Given the description of an element on the screen output the (x, y) to click on. 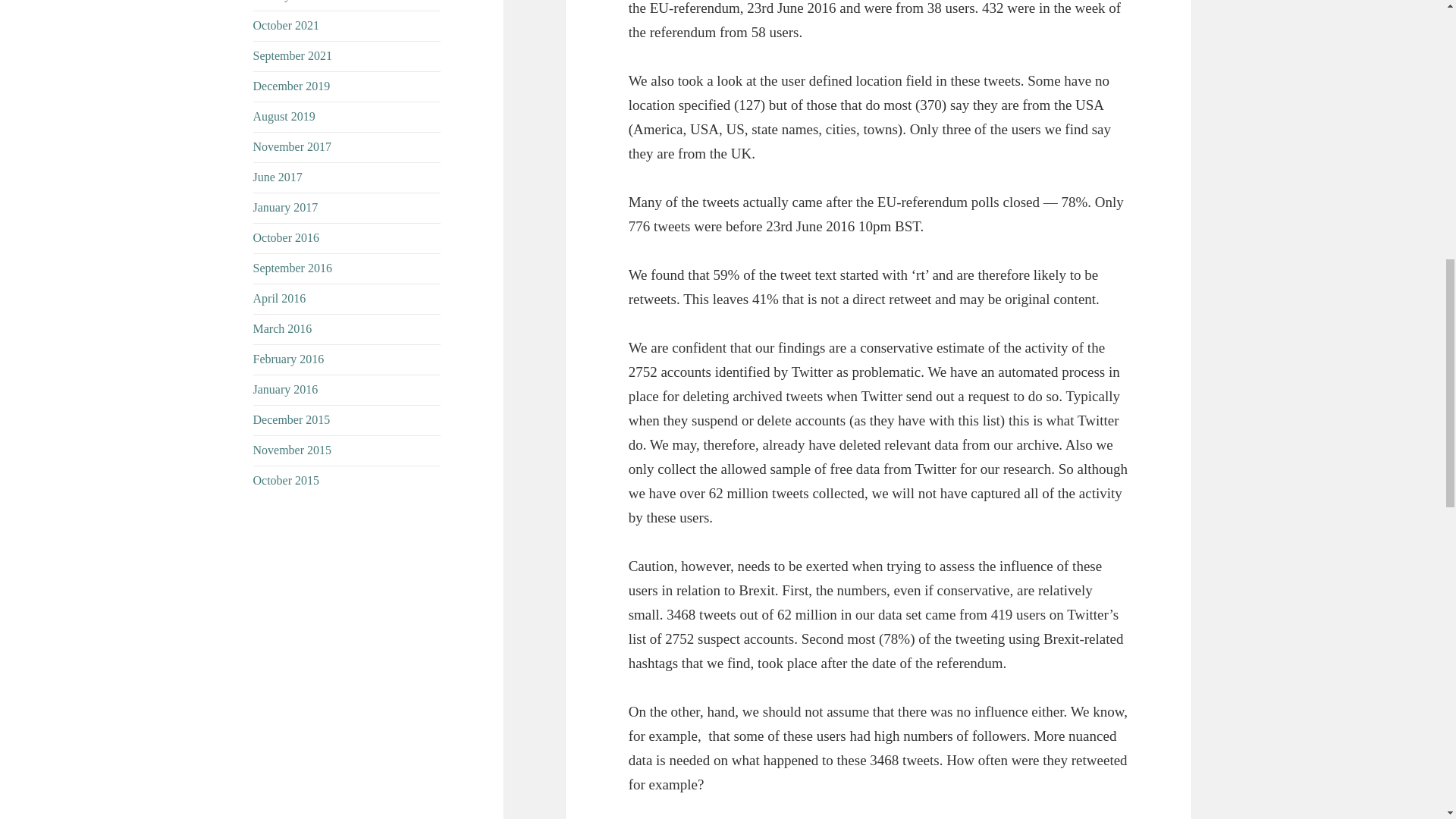
January 2024 (285, 0)
March 2016 (283, 328)
November 2015 (292, 449)
September 2021 (292, 55)
December 2015 (291, 419)
February 2016 (288, 358)
December 2019 (291, 85)
November 2017 (292, 146)
October 2015 (286, 480)
April 2016 (279, 297)
